Given the description of an element on the screen output the (x, y) to click on. 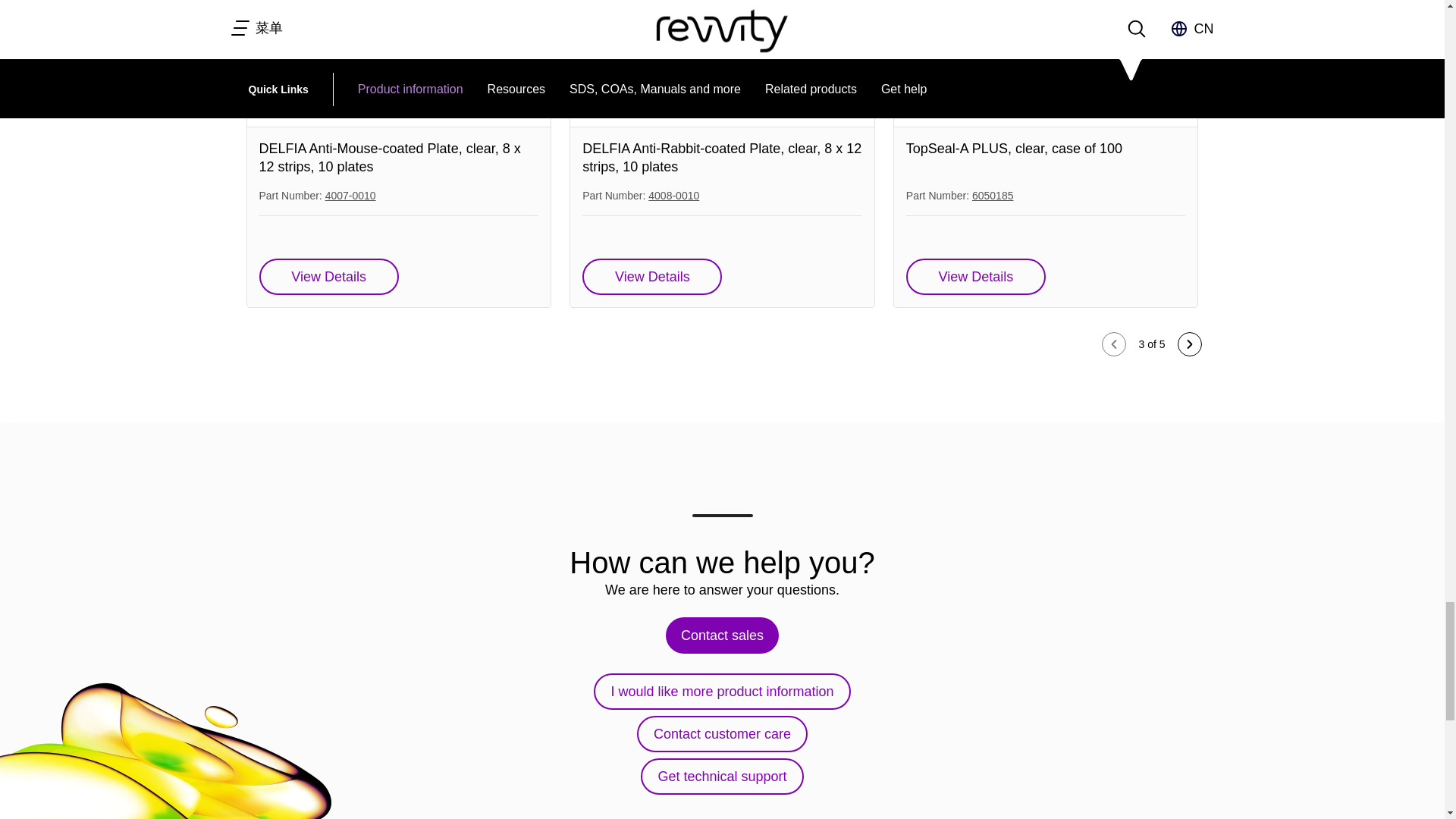
TopSeal-A PLUS image (1045, 63)
Shipping box for Revvity reagent kits (399, 63)
Shipping box for Revvity reagent kits (722, 63)
